Given the description of an element on the screen output the (x, y) to click on. 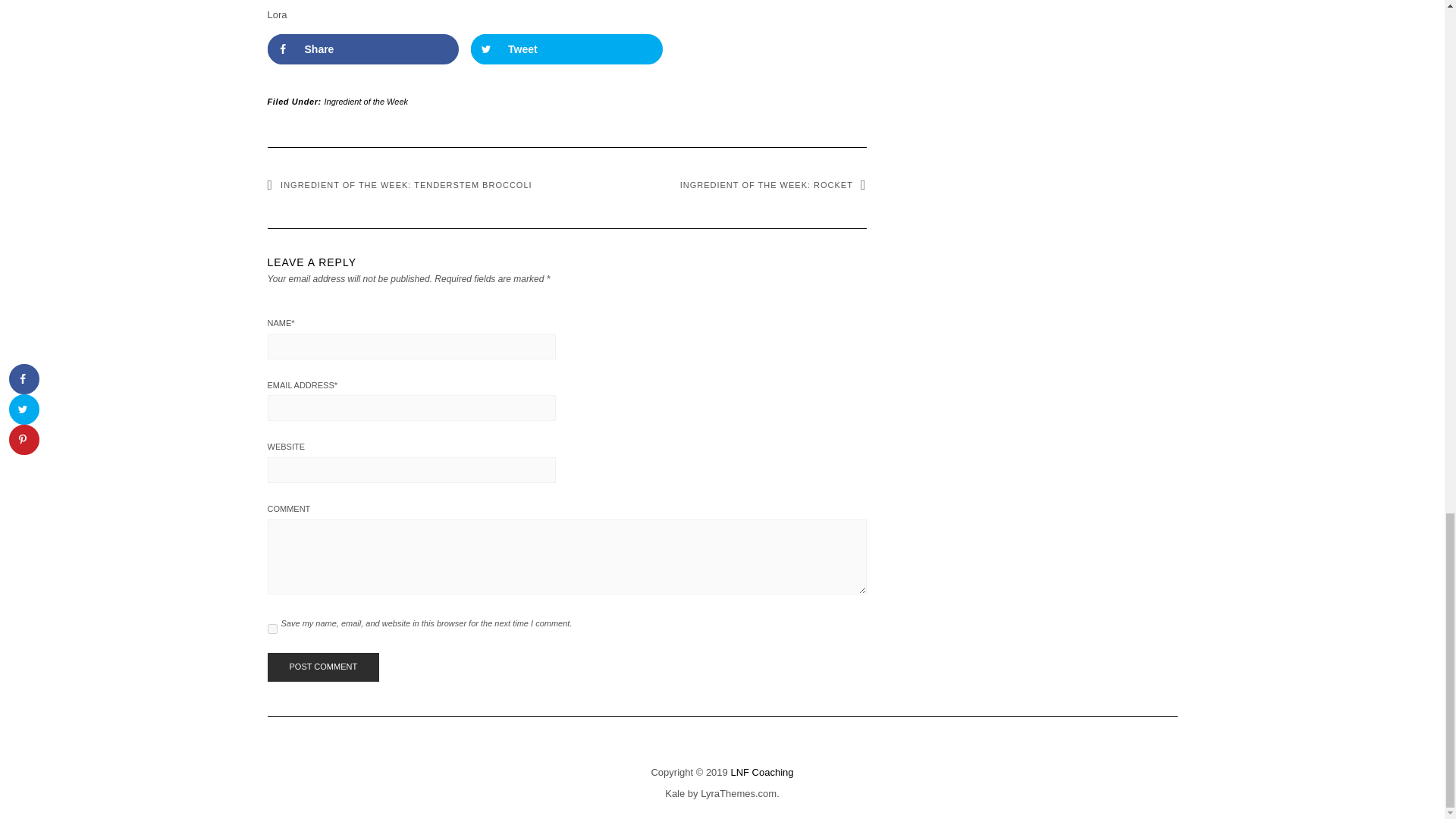
Share on Twitter (566, 49)
Share on Facebook (362, 49)
Post Comment (322, 666)
Tweet (566, 49)
INGREDIENT OF THE WEEK: ROCKET (772, 184)
Ingredient of the Week (365, 101)
Share (362, 49)
yes (271, 628)
INGREDIENT OF THE WEEK: TENDERSTEM BROCCOLI (398, 184)
Post Comment (322, 666)
